Given the description of an element on the screen output the (x, y) to click on. 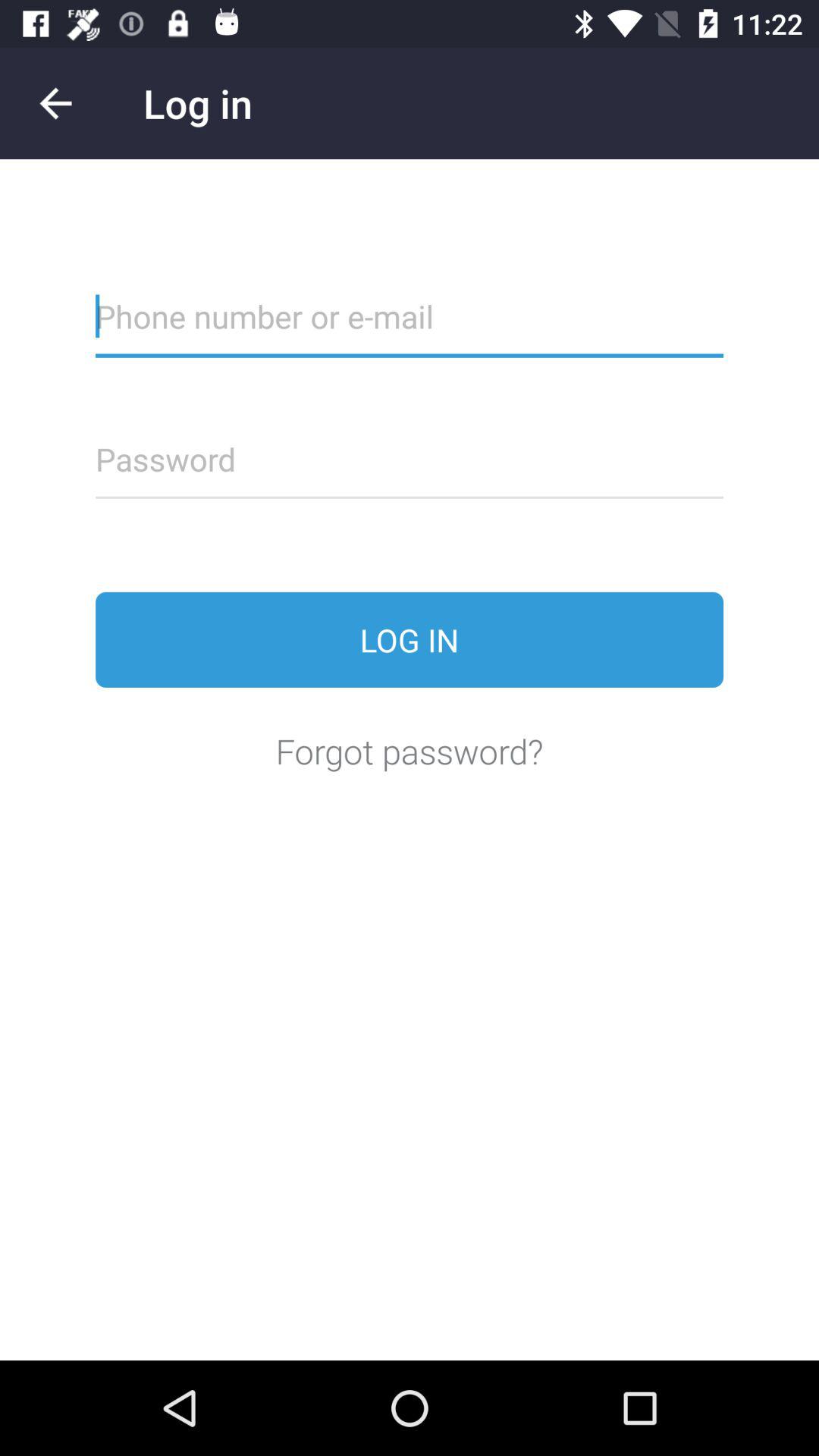
enter password (409, 468)
